Given the description of an element on the screen output the (x, y) to click on. 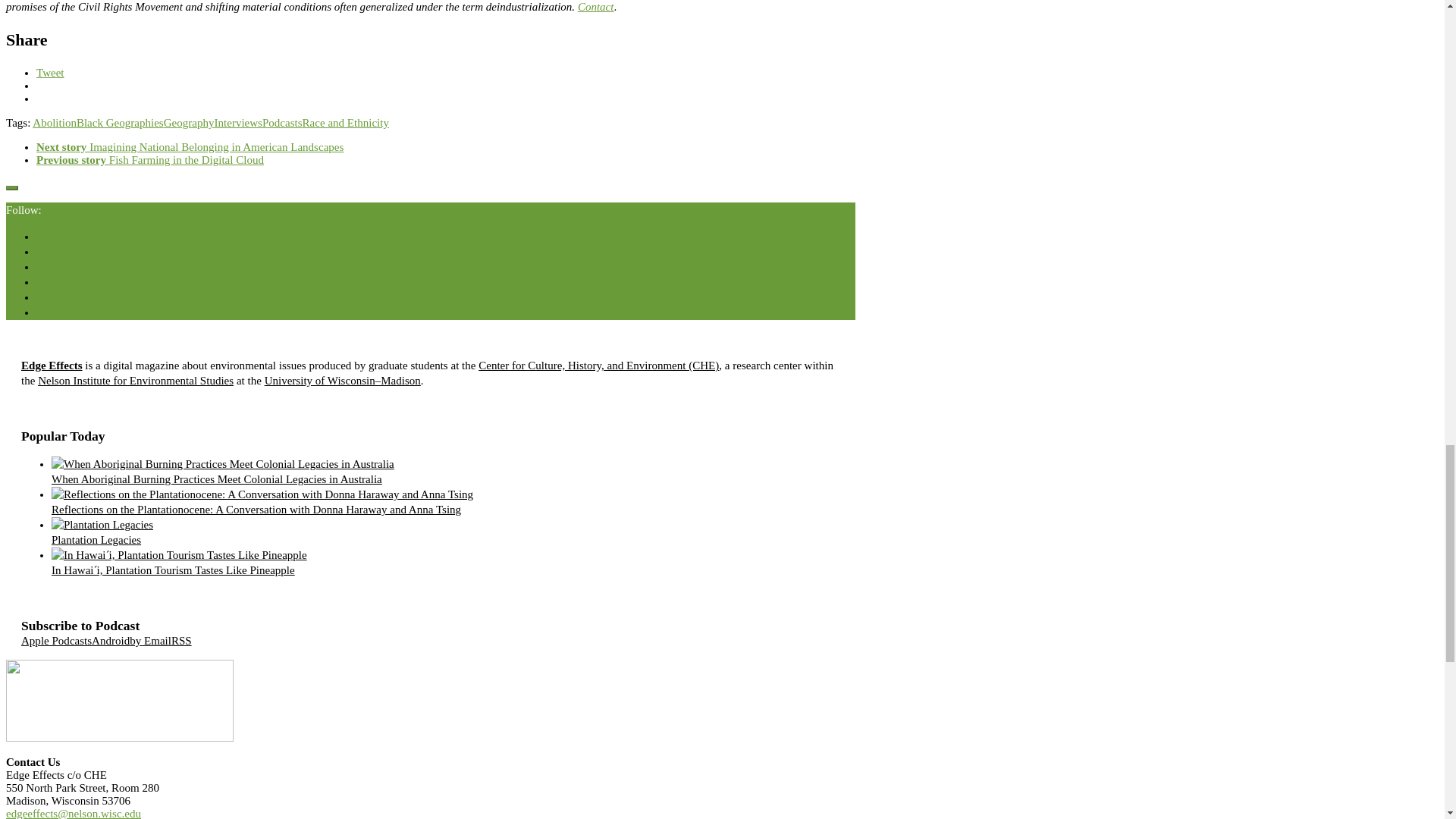
Expand Sidebar (11, 187)
